Given the description of an element on the screen output the (x, y) to click on. 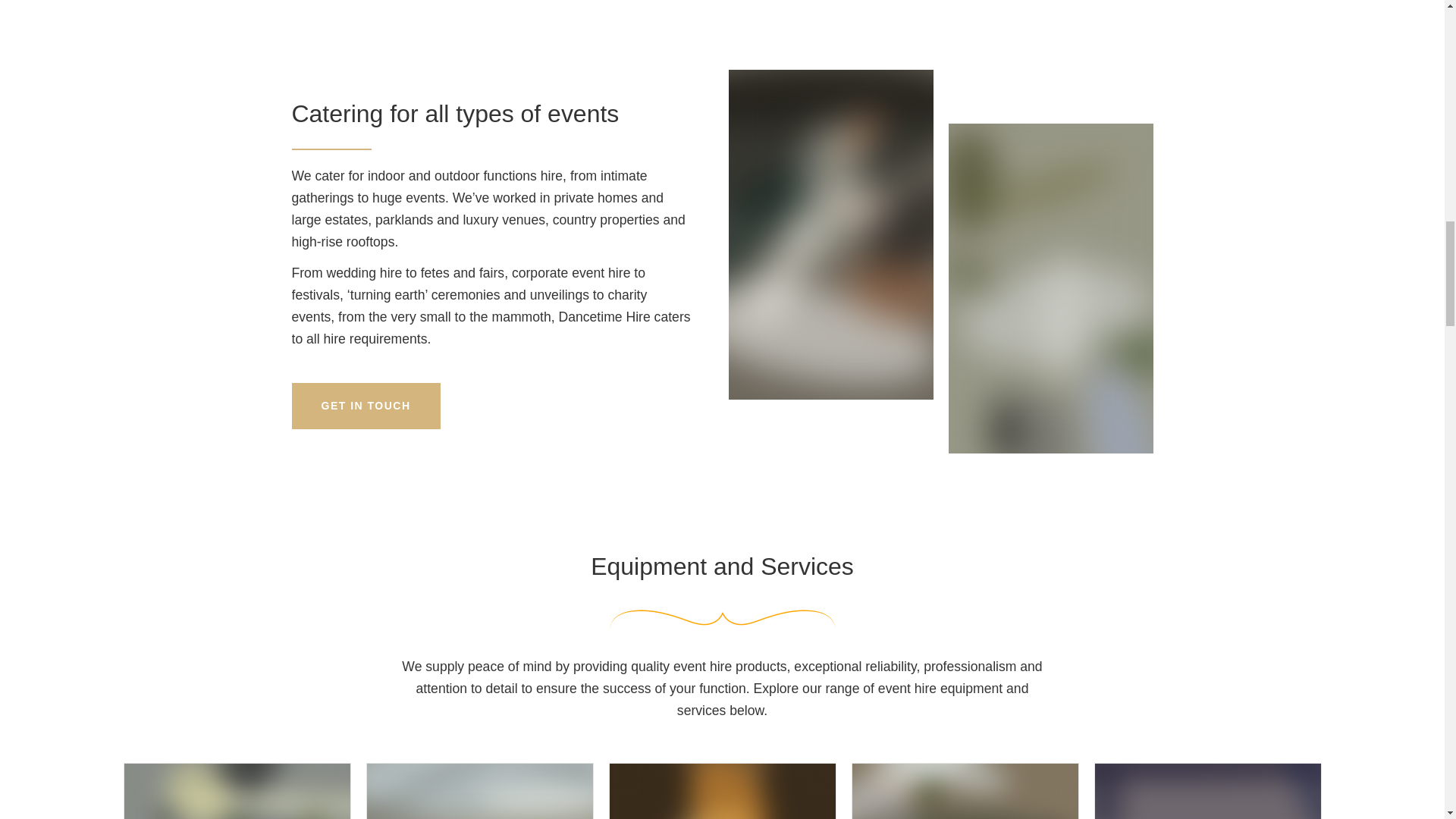
GET IN TOUCH (365, 406)
